Given the description of an element on the screen output the (x, y) to click on. 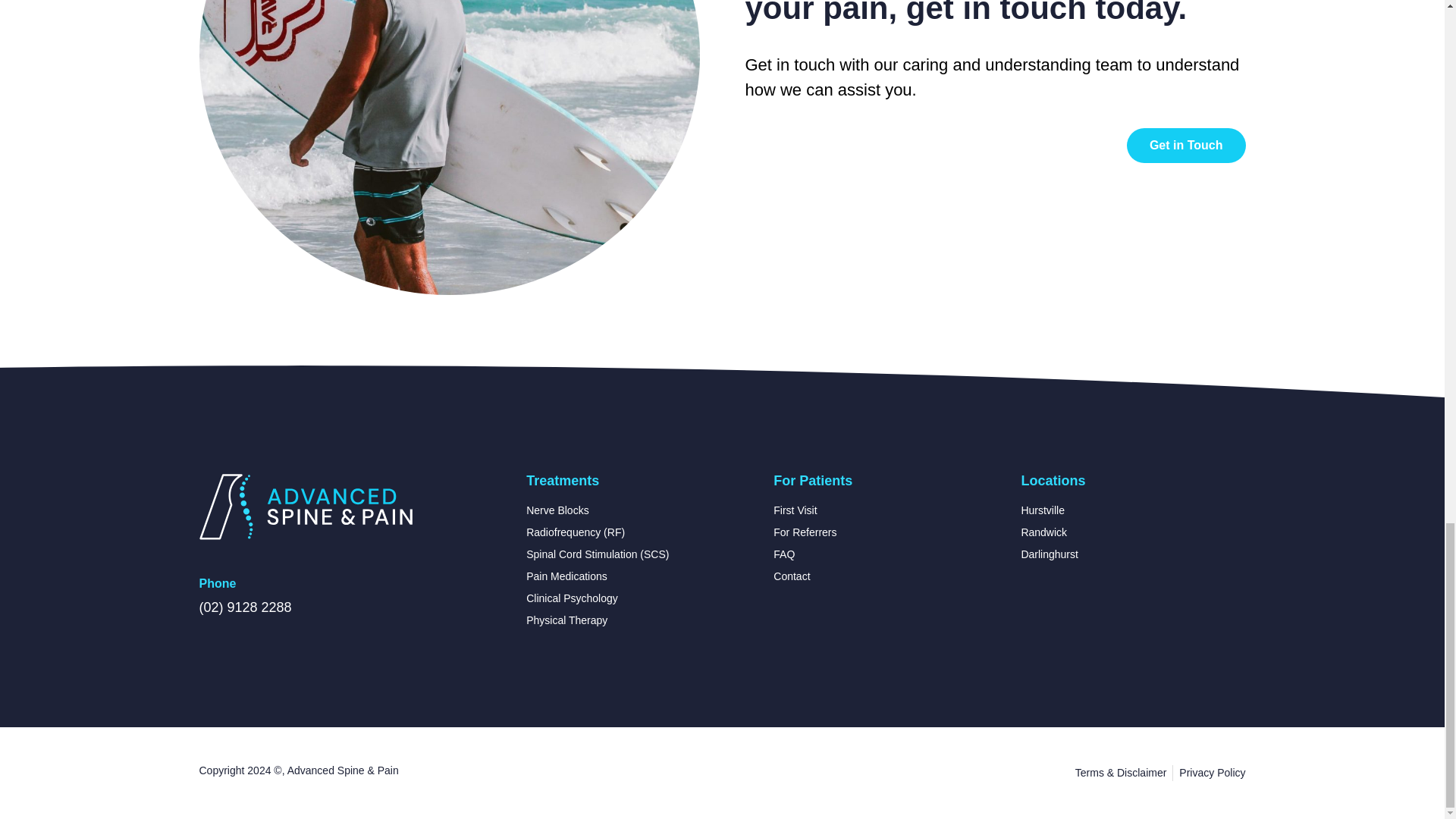
Contact (885, 576)
Physical Therapy (638, 620)
Randwick (1132, 532)
First Visit (885, 510)
FAQ (885, 554)
Privacy Policy (1211, 772)
Pain Medications (638, 576)
Clinical Psychology (638, 598)
Get in Touch (1186, 144)
Nerve Blocks (638, 510)
